Given the description of an element on the screen output the (x, y) to click on. 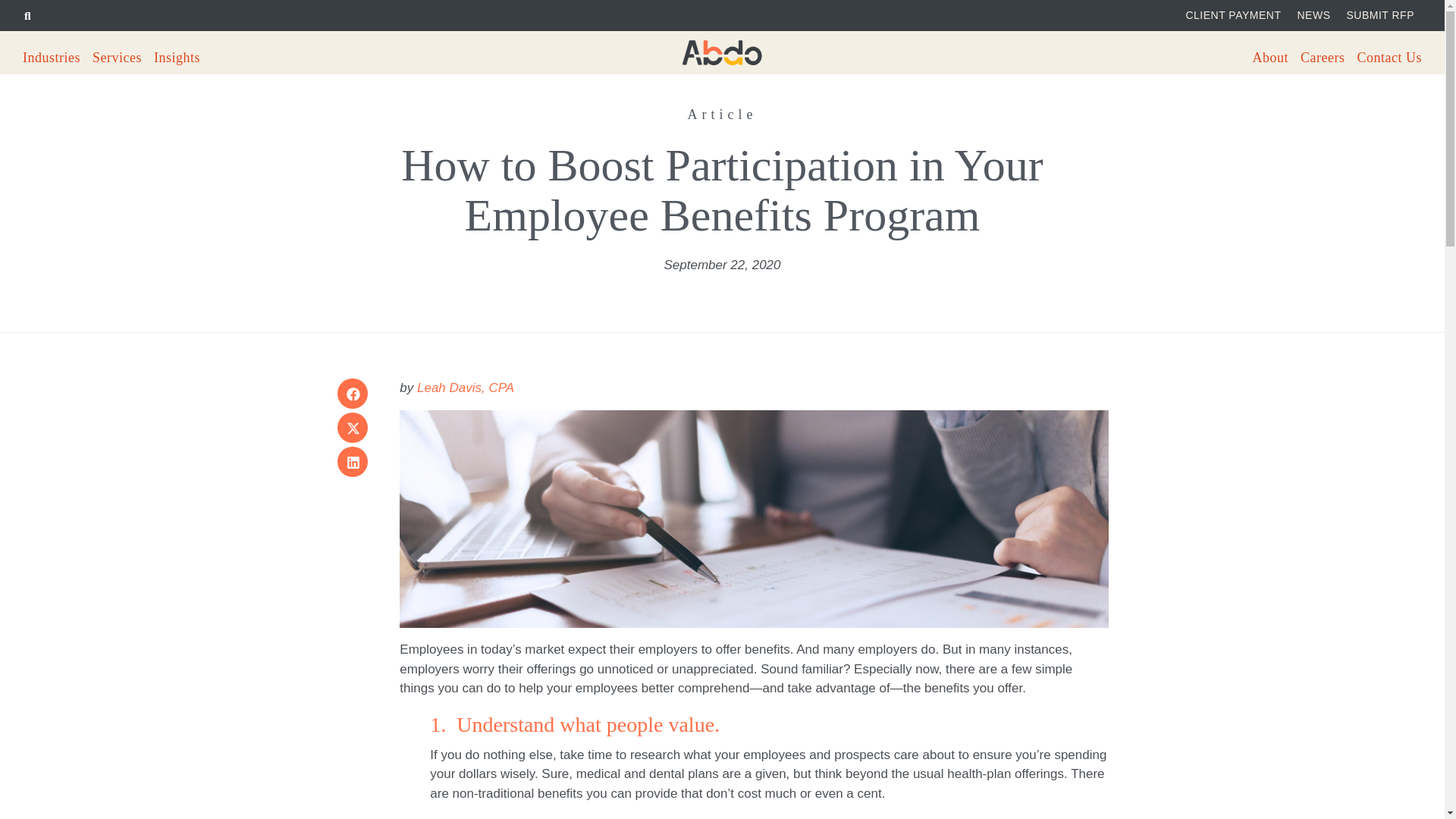
CLIENT PAYMENT (1232, 15)
Services (122, 56)
Insights (182, 56)
Industries (57, 56)
SUBMIT RFP (1380, 15)
NEWS (1313, 15)
logo (721, 52)
